Given the description of an element on the screen output the (x, y) to click on. 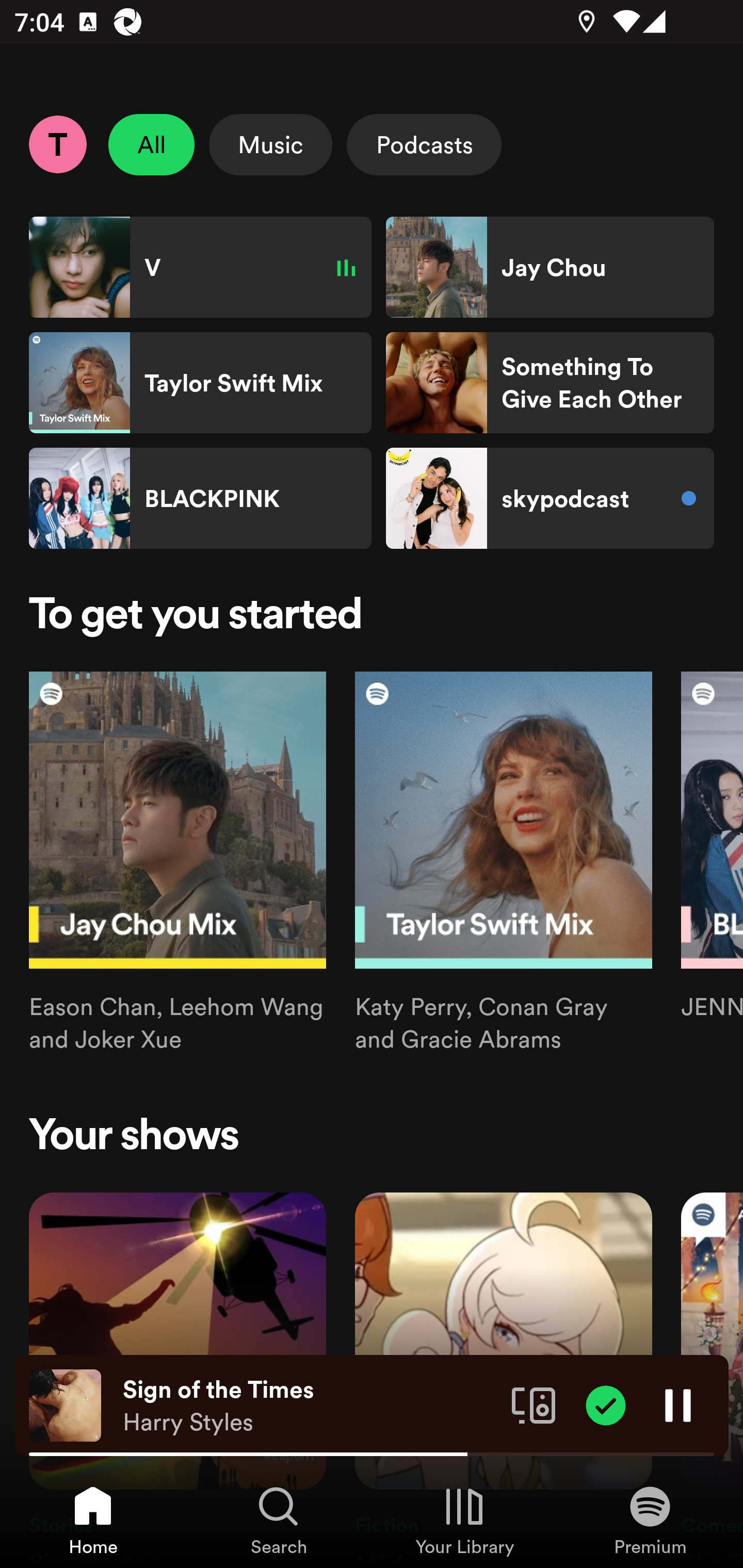
Profile (57, 144)
All Unselect All (151, 144)
Music Select Music (270, 144)
Podcasts Select Podcasts (423, 144)
V Shortcut V Playing (199, 267)
Jay Chou Shortcut Jay Chou (549, 267)
Taylor Swift Mix Shortcut Taylor Swift Mix (199, 382)
BLACKPINK Shortcut BLACKPINK (199, 498)
skypodcast Shortcut skypodcast New content (549, 498)
Sign of the Times Harry Styles (309, 1405)
The cover art of the currently playing track (64, 1404)
Connect to a device. Opens the devices menu (533, 1404)
Item added (605, 1404)
Pause (677, 1404)
Home, Tab 1 of 4 Home Home (92, 1519)
Search, Tab 2 of 4 Search Search (278, 1519)
Your Library, Tab 3 of 4 Your Library Your Library (464, 1519)
Premium, Tab 4 of 4 Premium Premium (650, 1519)
